Given the description of an element on the screen output the (x, y) to click on. 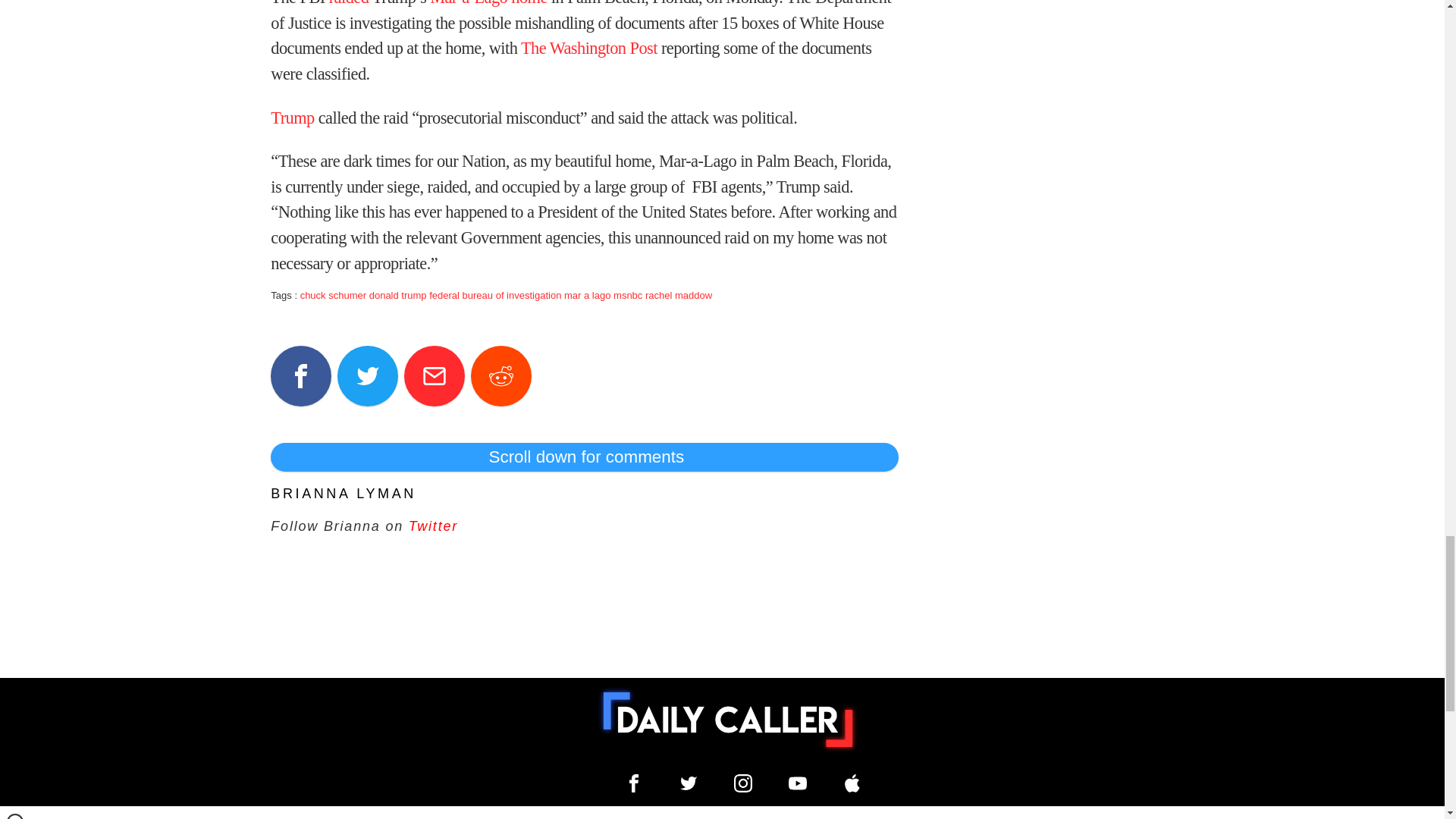
Scroll down for comments (584, 457)
To home page (727, 719)
Daily Caller YouTube (797, 782)
Daily Caller Twitter (688, 782)
Daily Caller Facebook (633, 782)
Daily Caller YouTube (852, 782)
Daily Caller Instagram (742, 782)
